Given the description of an element on the screen output the (x, y) to click on. 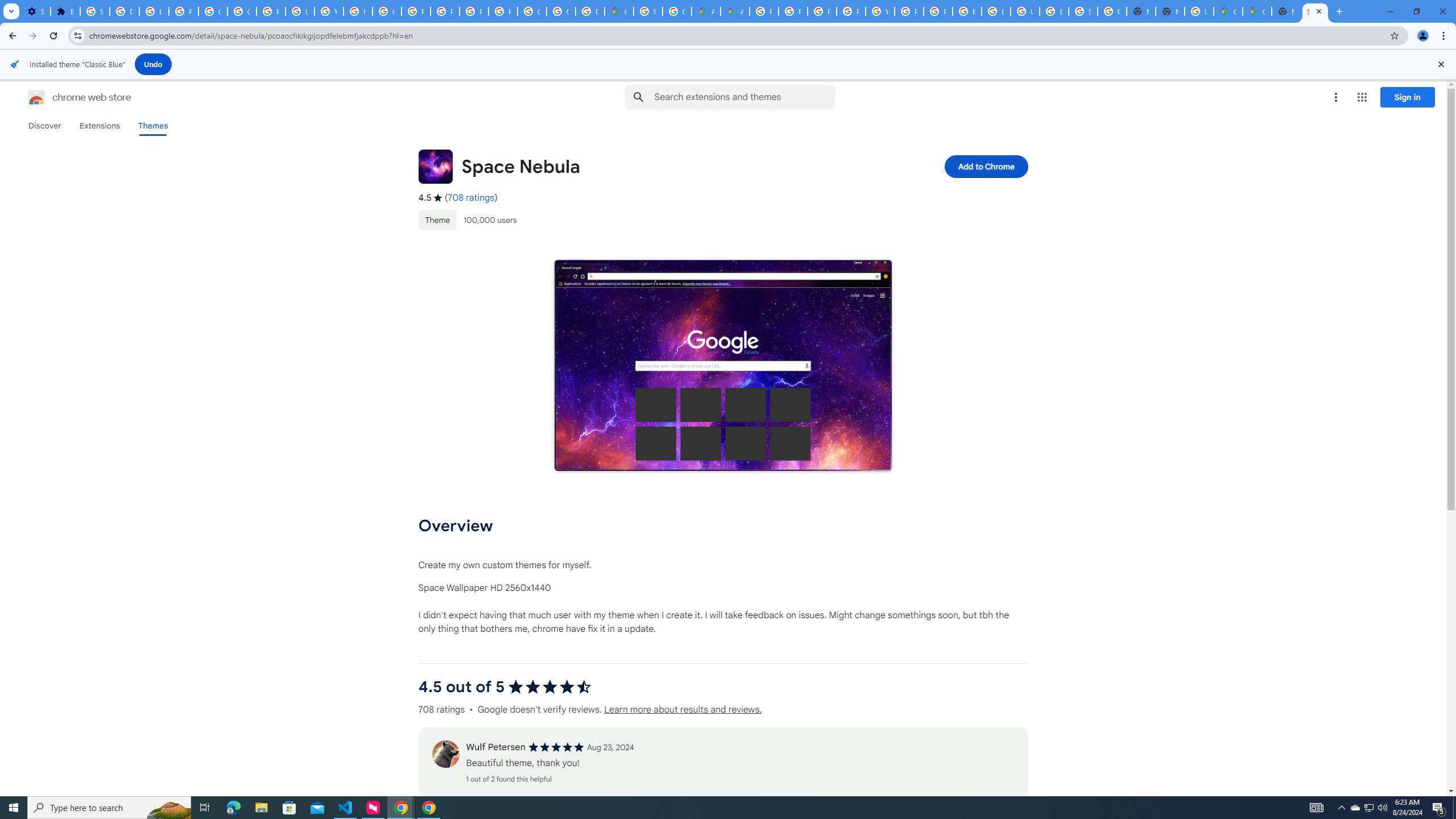
Item media 1 screenshot (723, 366)
System (6, 6)
Theme (437, 219)
Back (10, 35)
Themes (152, 125)
View site information (77, 35)
Close (1440, 64)
Chrome Web Store logo chrome web store (67, 97)
Sign in (1407, 96)
